Given the description of an element on the screen output the (x, y) to click on. 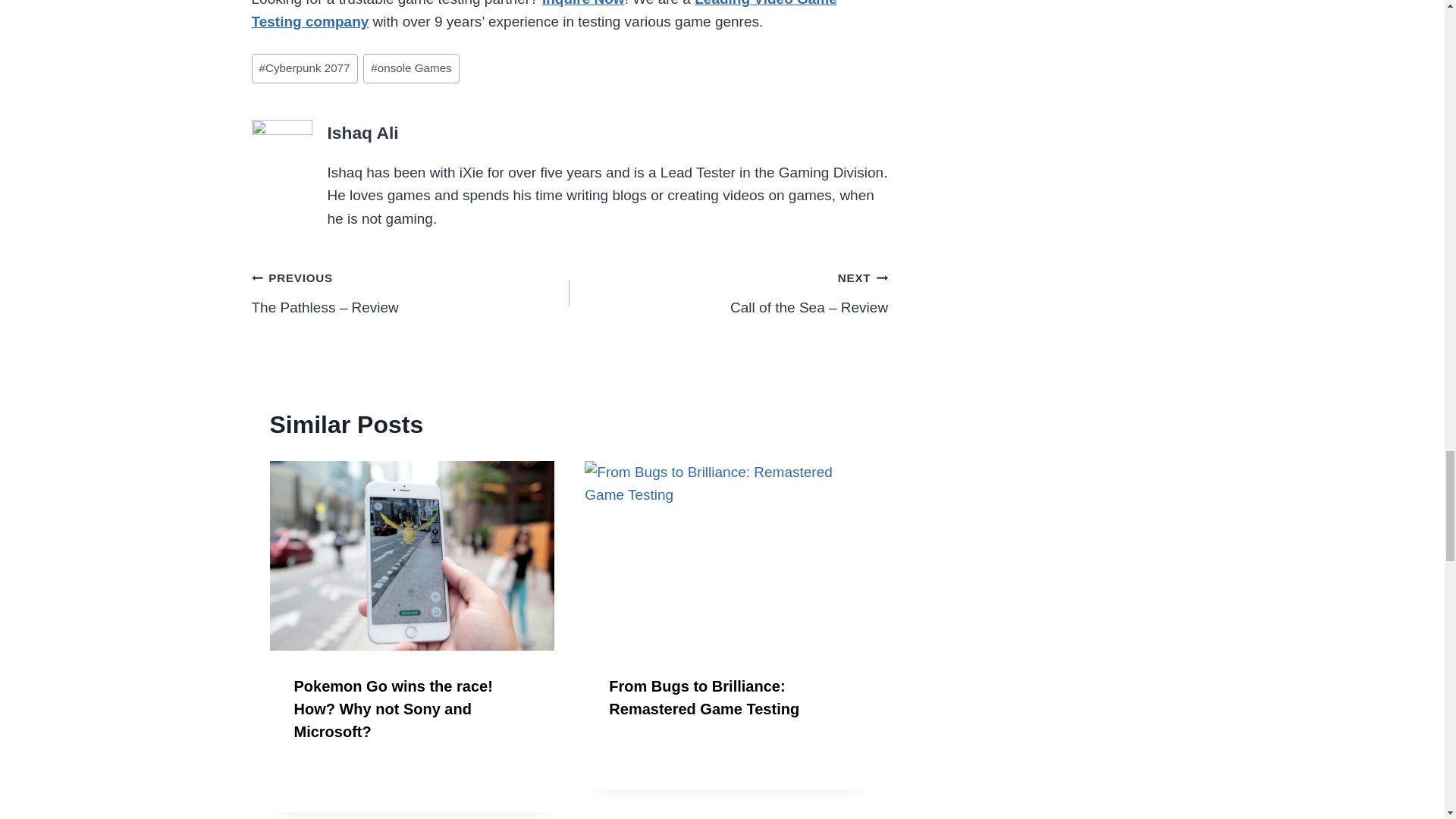
onsole Games (411, 68)
Posts by Ishaq Ali (362, 132)
Cyberpunk 2077 (304, 68)
